Given the description of an element on the screen output the (x, y) to click on. 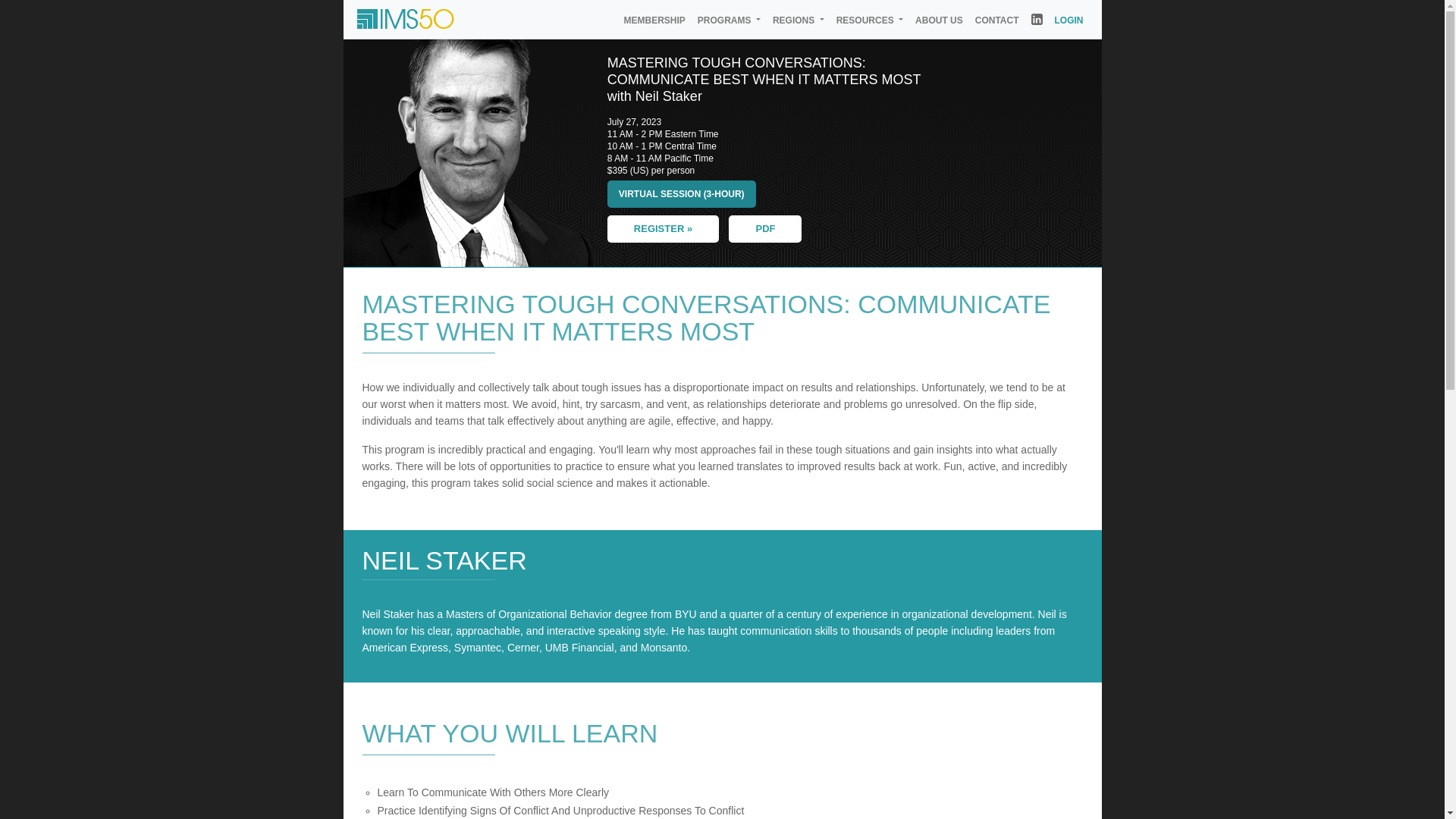
ABOUT US (938, 19)
MEMBERSHIP (653, 19)
PROGRAMS (729, 19)
CONTACT (997, 19)
RESOURCES (868, 19)
REGIONS (798, 19)
LOGIN (1068, 19)
